Given the description of an element on the screen output the (x, y) to click on. 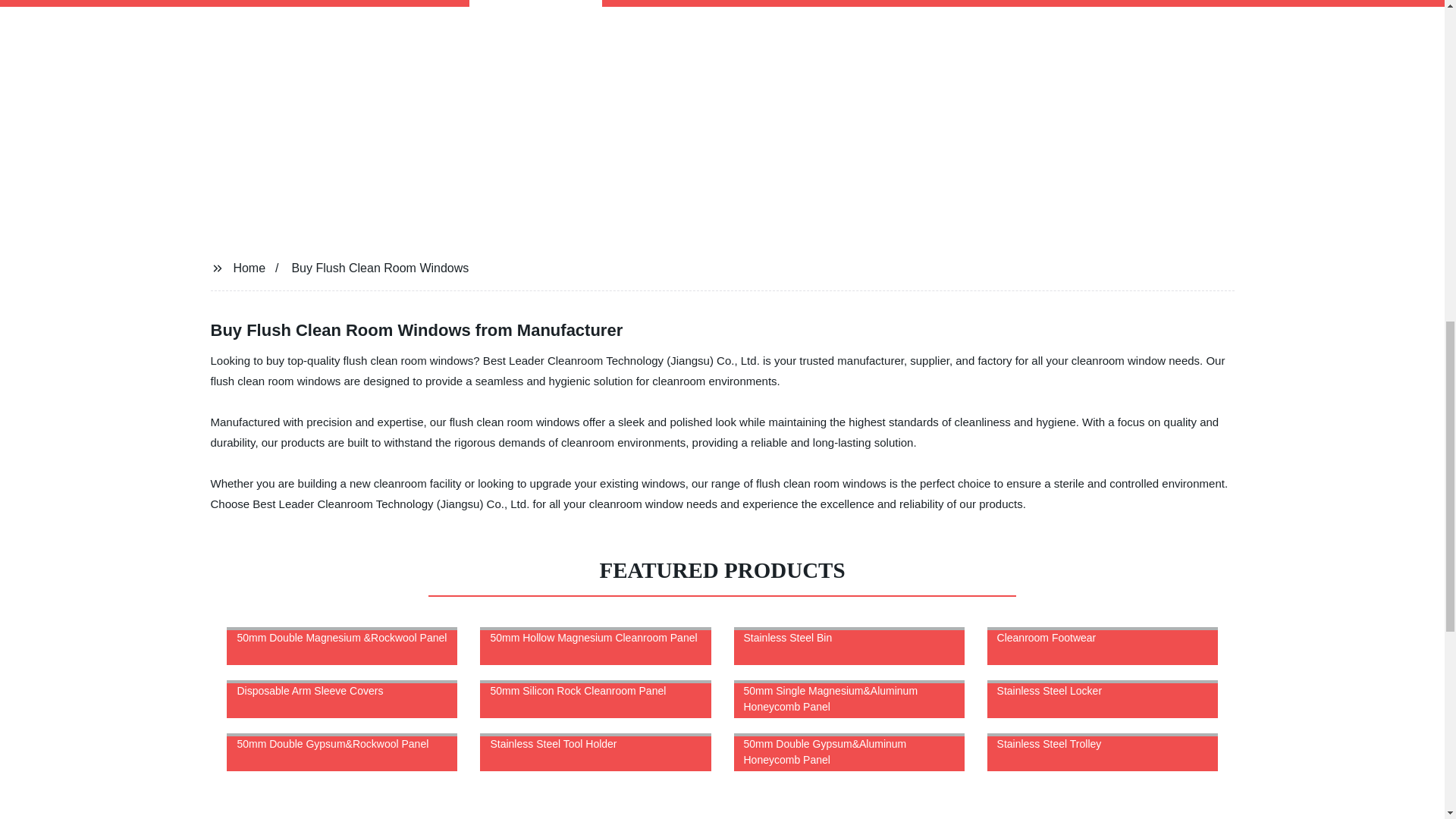
PRODUCTS (535, 2)
BLOG (753, 2)
HOME (417, 2)
CONTACT US (877, 2)
NEWS (652, 2)
ABOUT US (1013, 2)
